Given the description of an element on the screen output the (x, y) to click on. 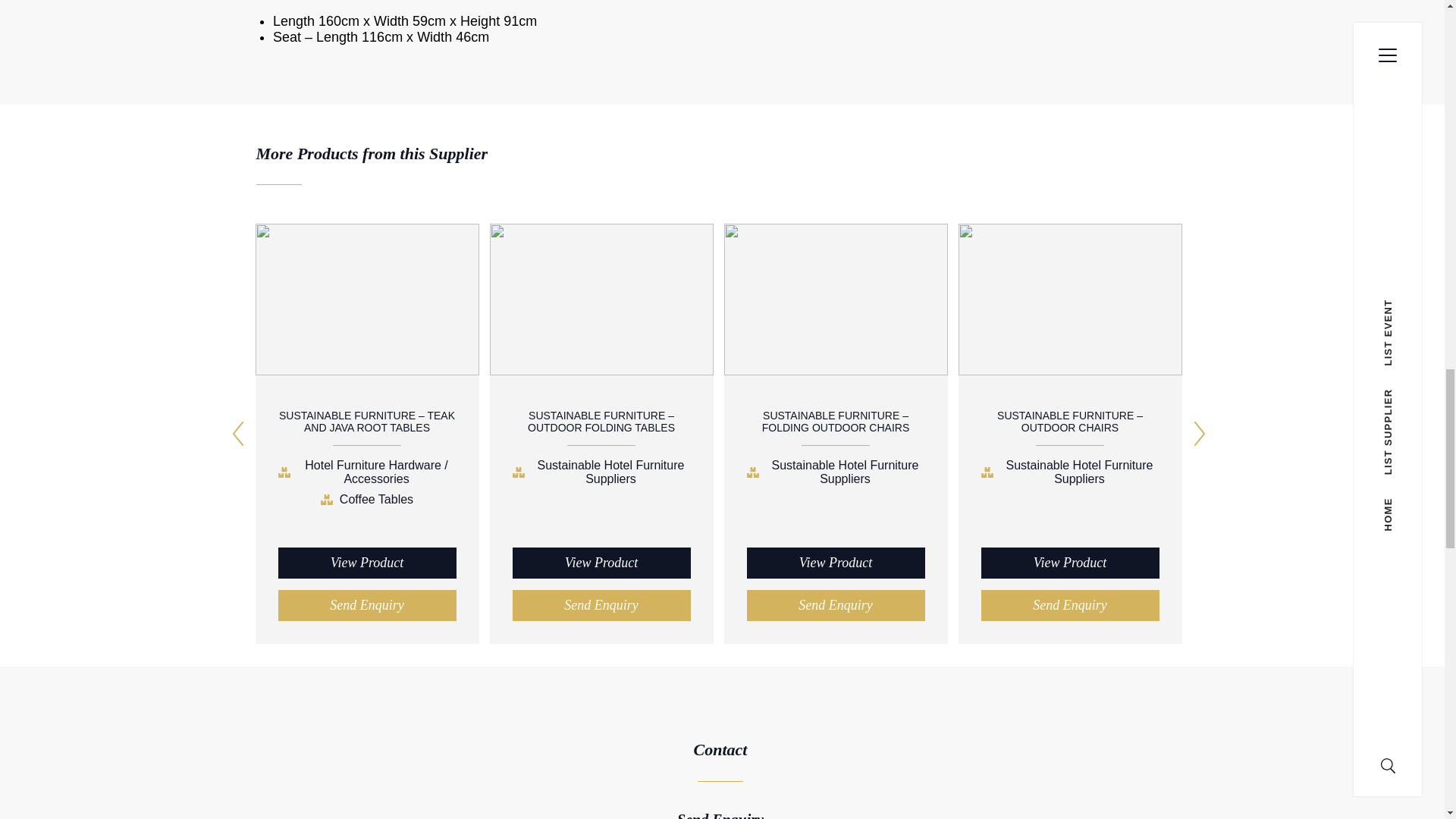
View Product (1069, 562)
View Product (834, 562)
View Product (601, 562)
View Product (366, 562)
Send Enquiry (601, 604)
Send Enquiry (366, 604)
Send Enquiry (834, 604)
Send Enquiry (1069, 604)
